Given the description of an element on the screen output the (x, y) to click on. 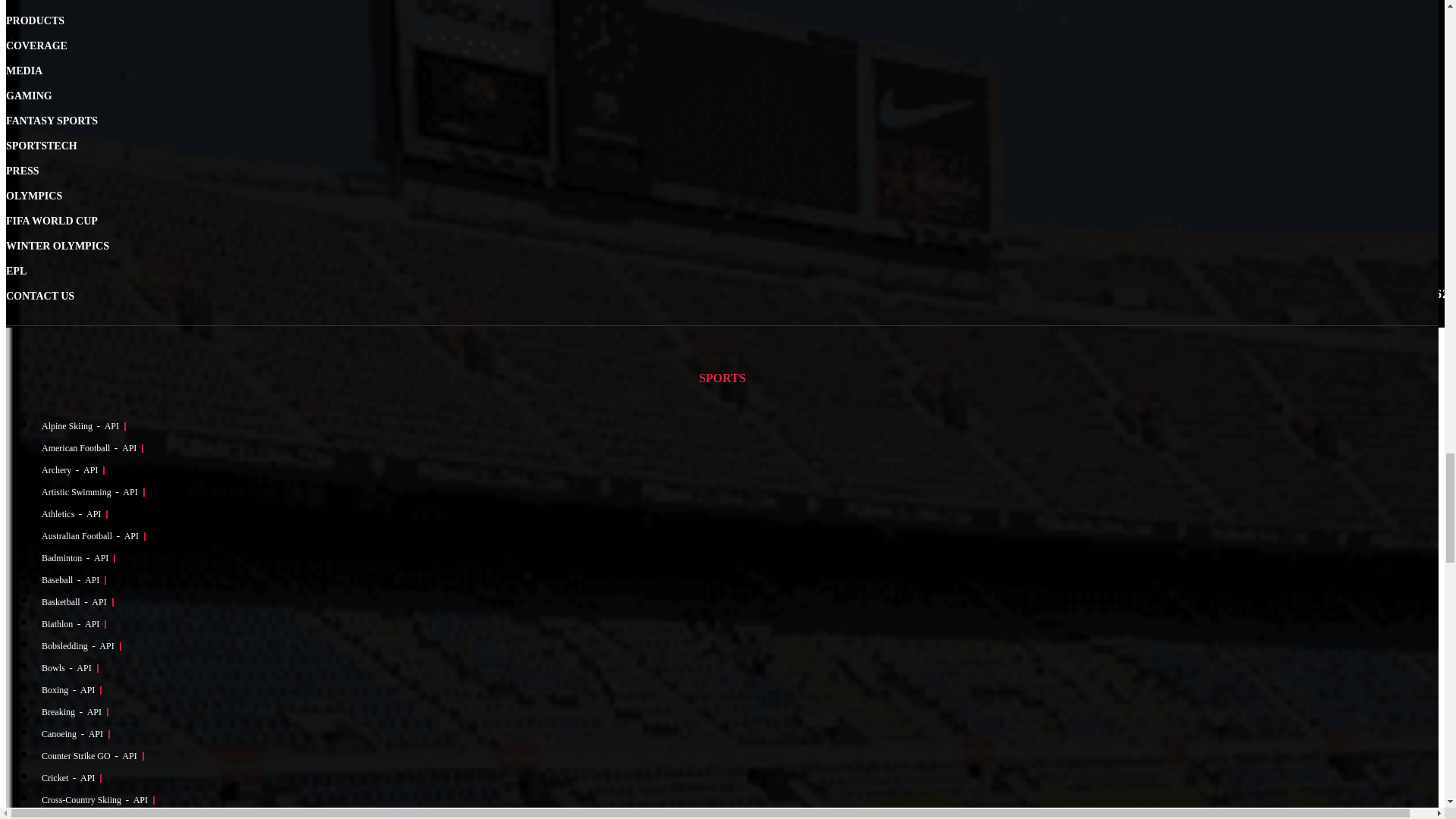
PRESS (22, 170)
FANTASY SPORTS (51, 120)
MEDIA (23, 70)
FIFA WORLD CUP (51, 220)
PRODUCTS (34, 20)
GAMING (28, 95)
EPL (15, 270)
COVERAGE (35, 45)
SPORTSTECH (41, 145)
WINTER OLYMPICS (57, 245)
OLYMPICS (33, 195)
CONTACT US (39, 296)
